Given the description of an element on the screen output the (x, y) to click on. 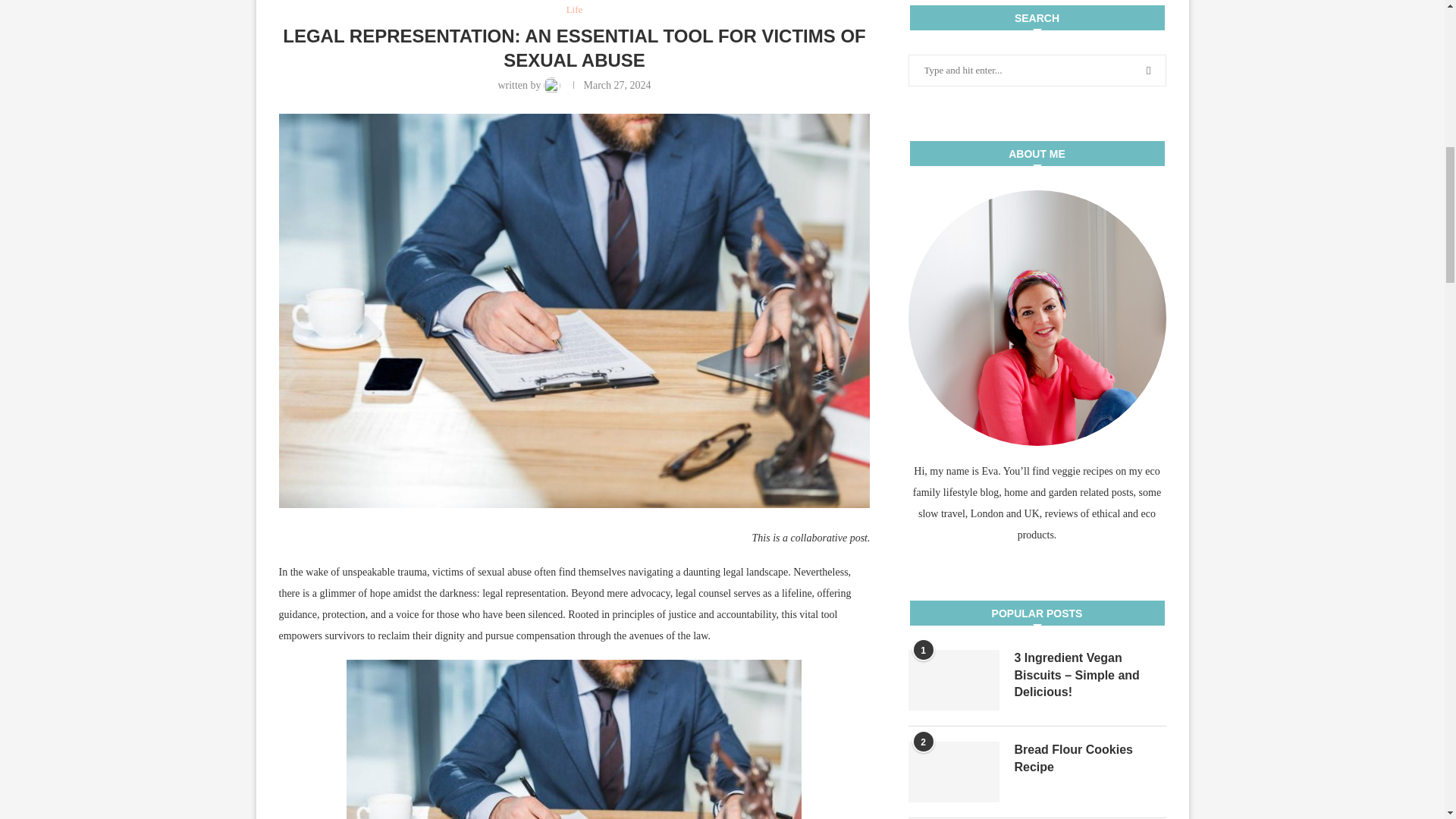
Life (574, 9)
